Given the description of an element on the screen output the (x, y) to click on. 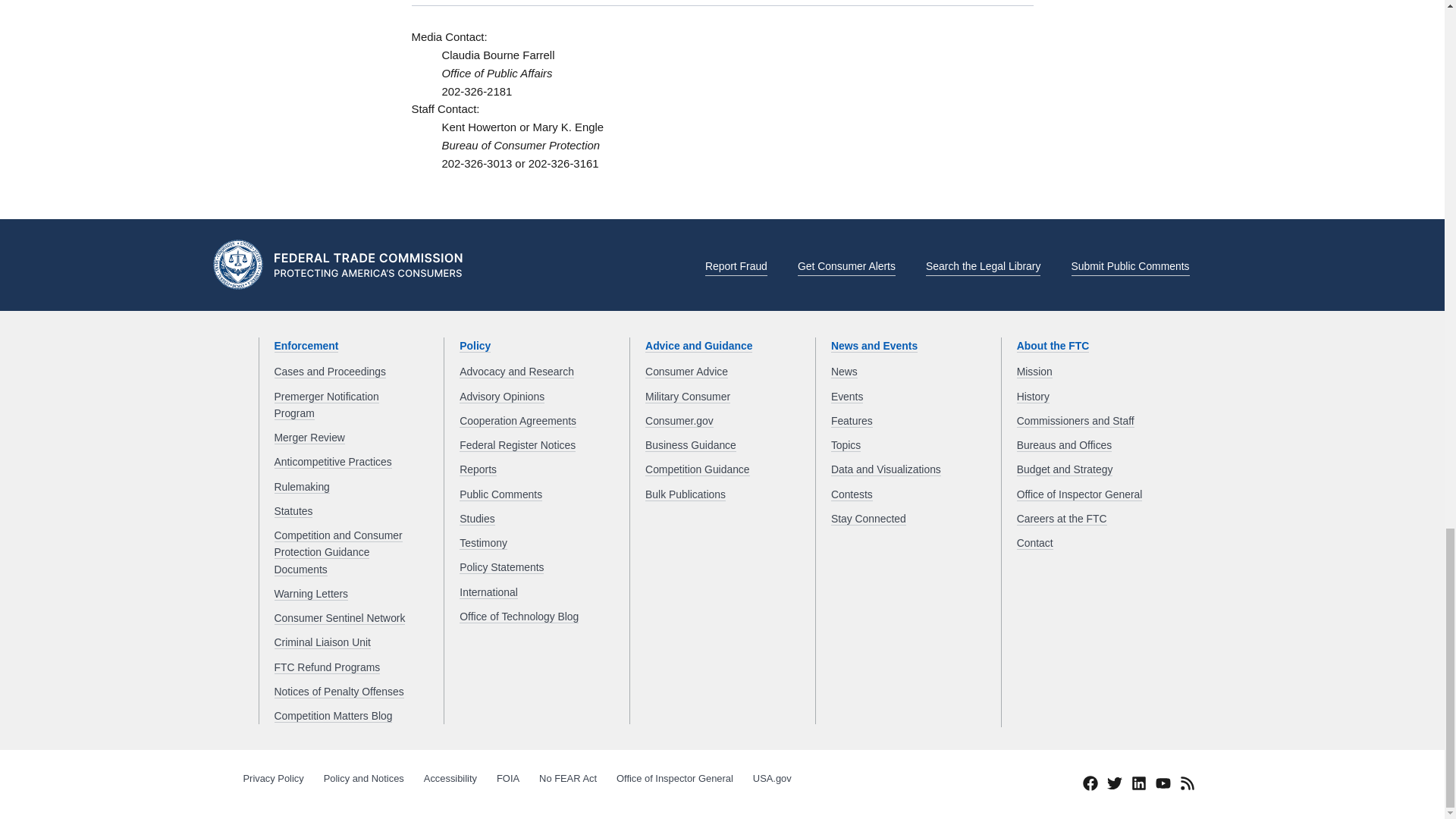
Home (343, 266)
